Given the description of an element on the screen output the (x, y) to click on. 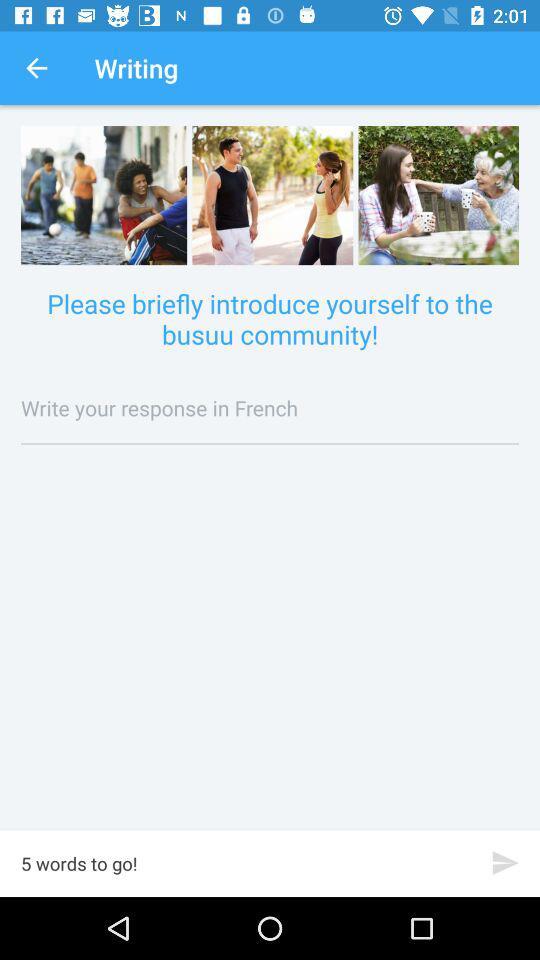
tap the item to the right of 5 words to (505, 862)
